Given the description of an element on the screen output the (x, y) to click on. 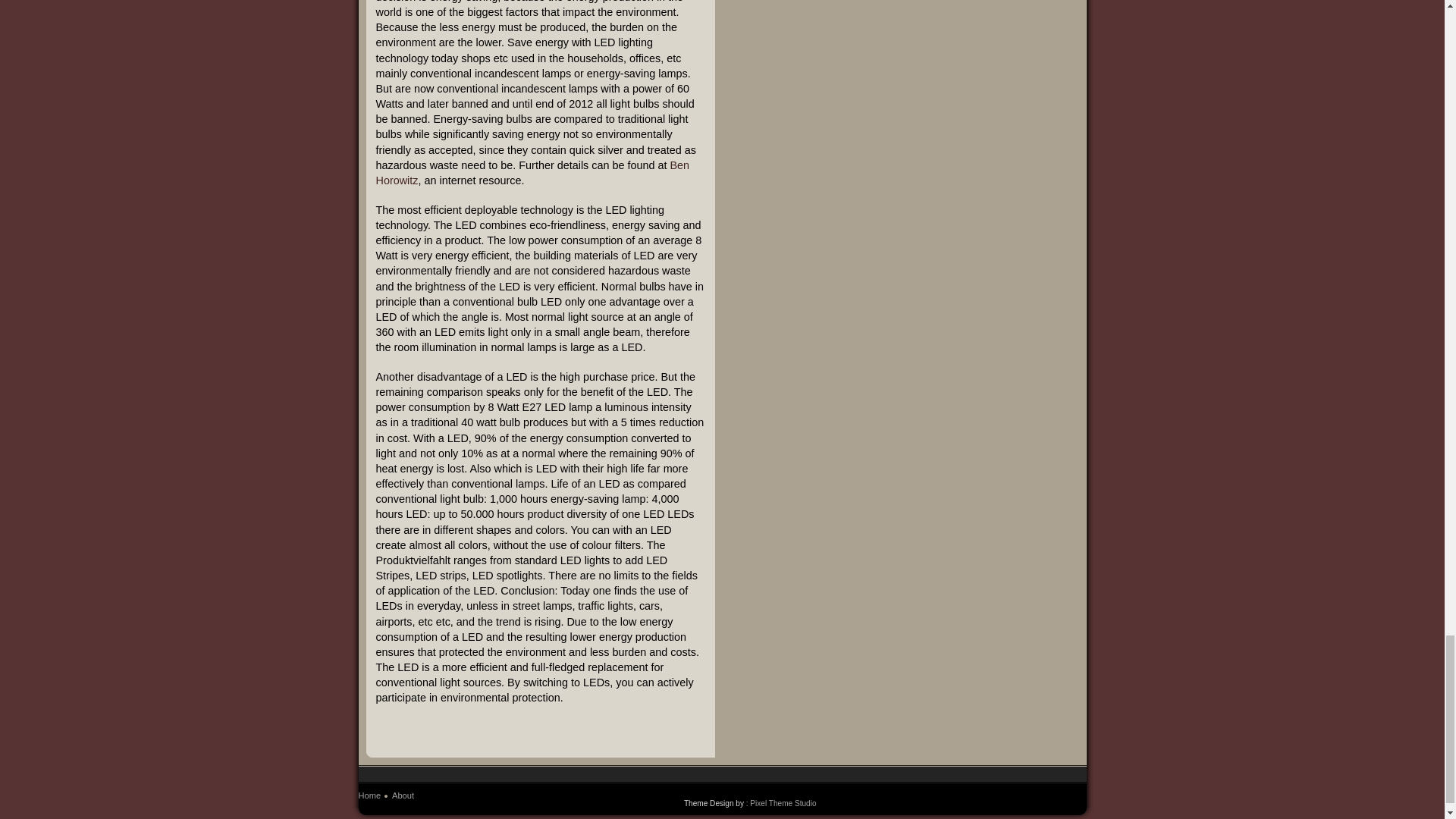
Ben Horowitz (532, 172)
